Given the description of an element on the screen output the (x, y) to click on. 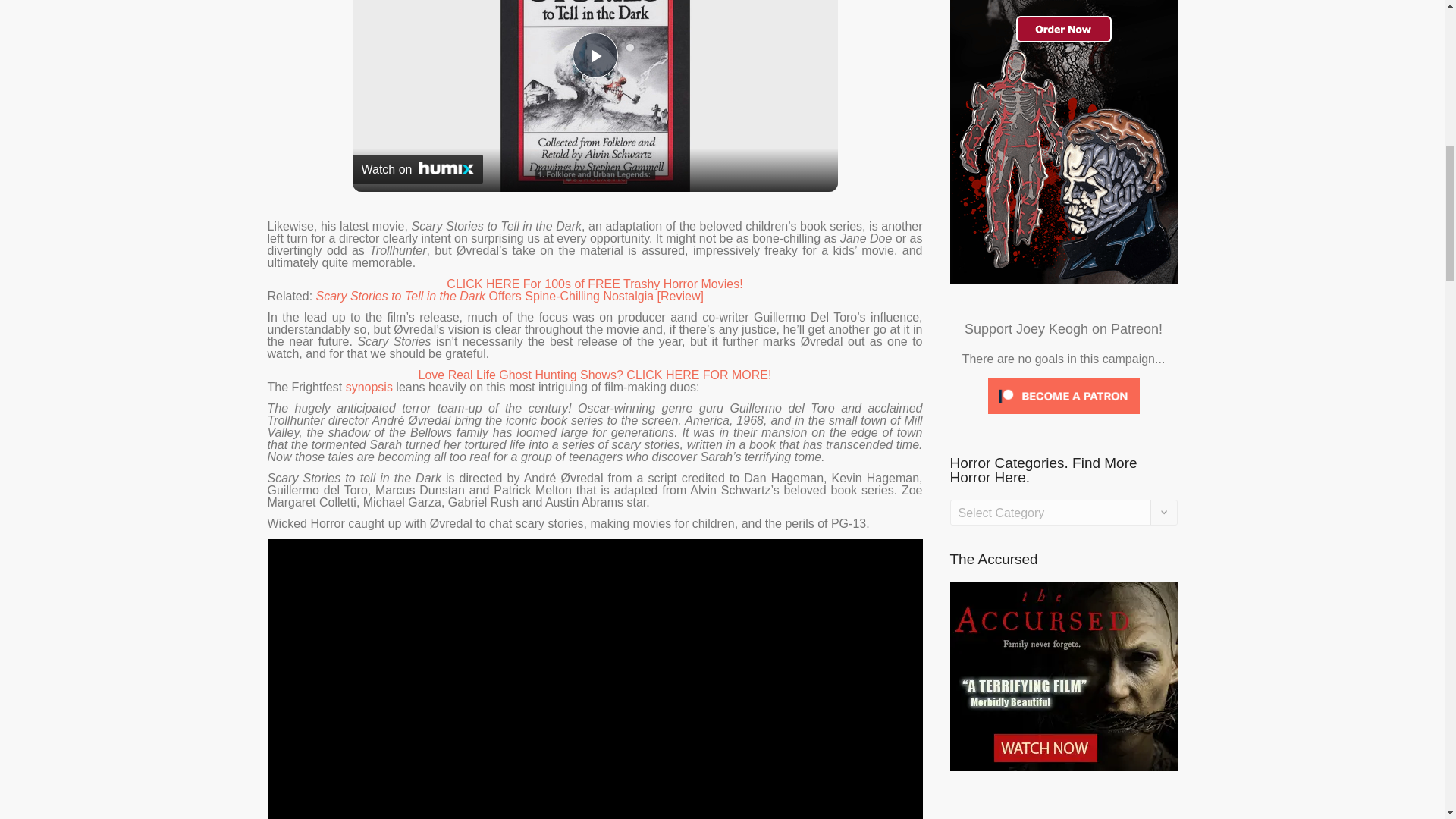
Play Video (594, 54)
